Given the description of an element on the screen output the (x, y) to click on. 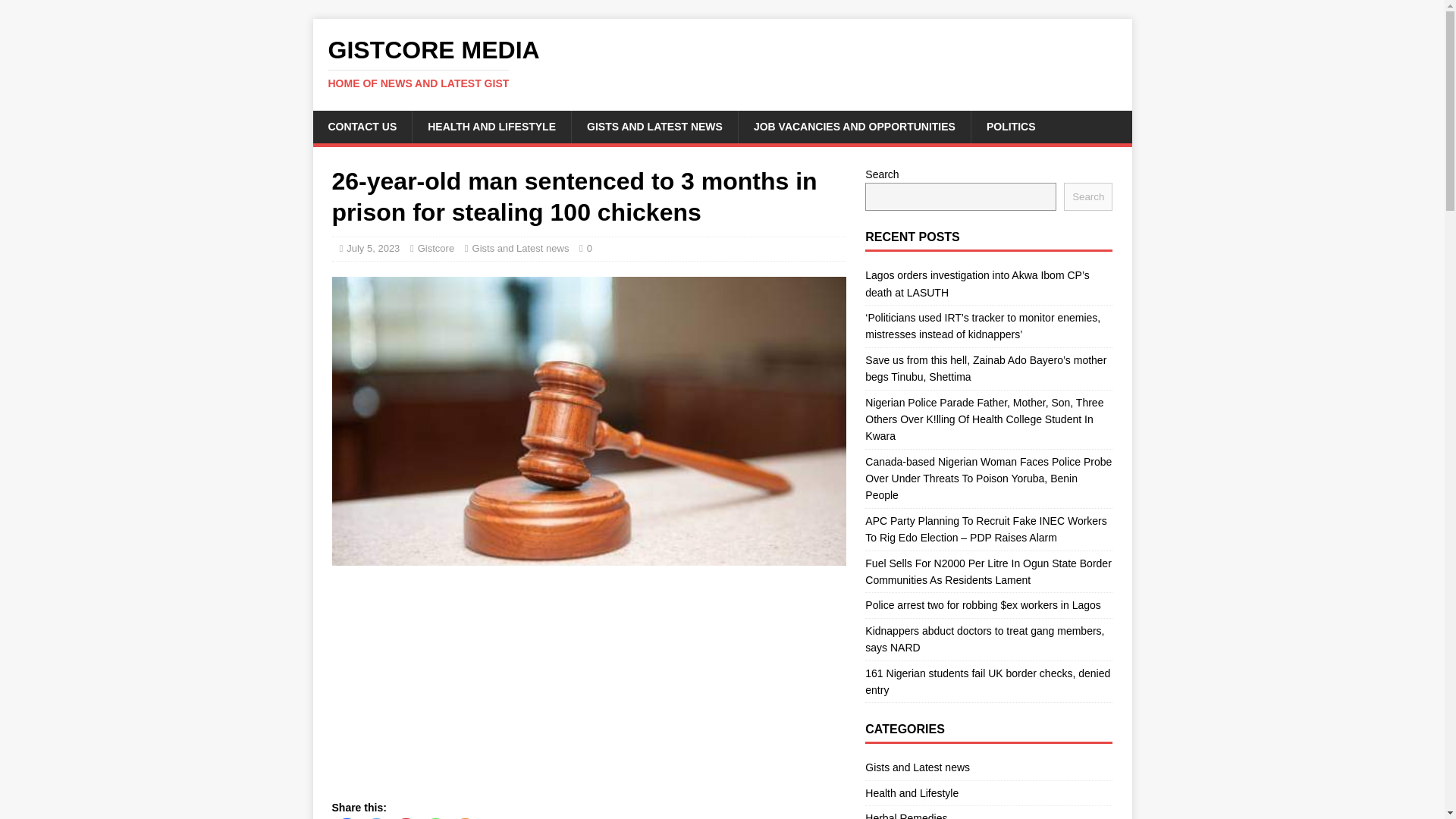
GISTS AND LATEST NEWS (654, 126)
July 5, 2023 (721, 63)
Gistcore (372, 247)
Search (435, 247)
Gistcore  media (1088, 196)
More (721, 63)
